Given the description of an element on the screen output the (x, y) to click on. 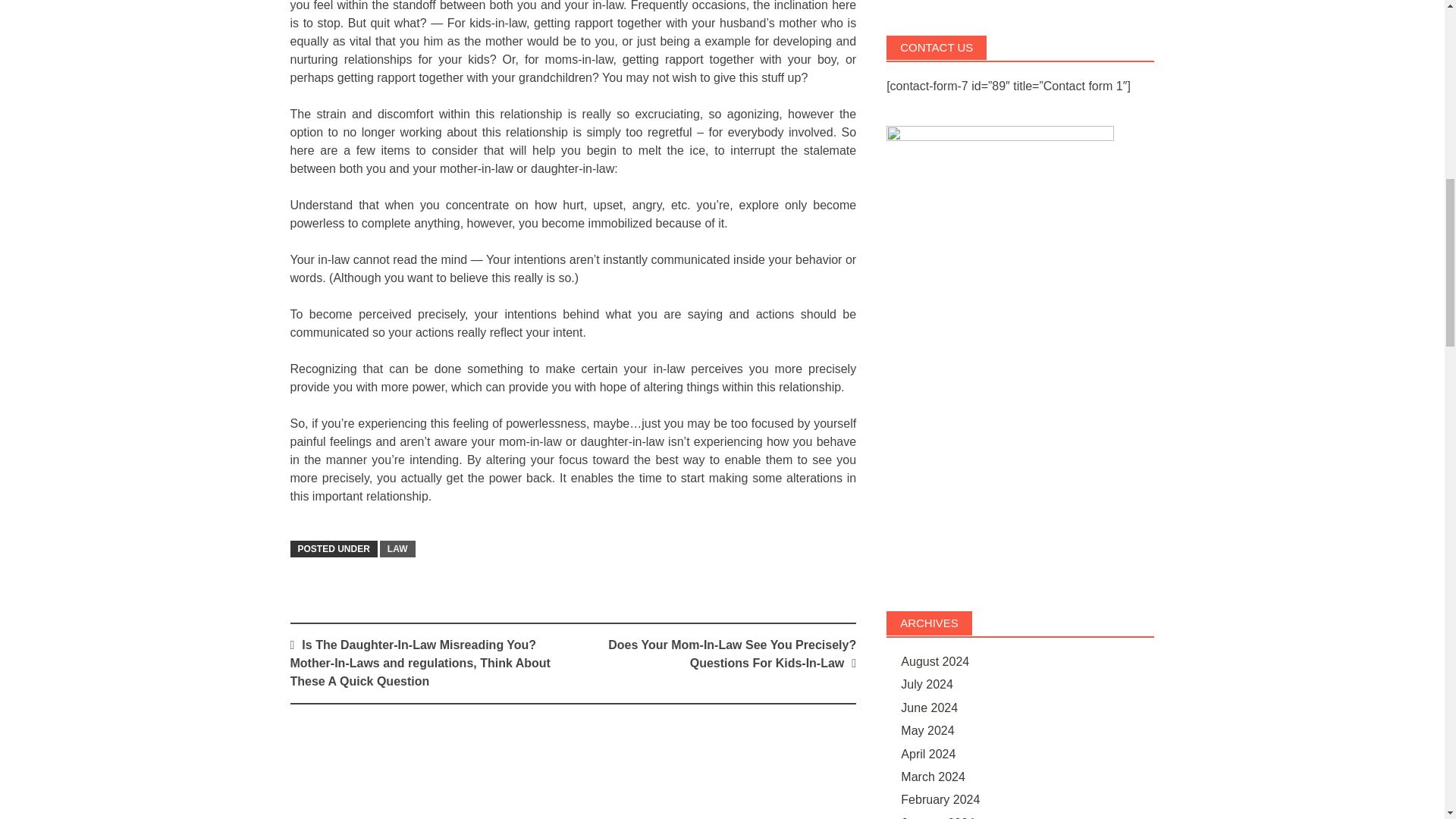
LAW (397, 548)
